Given the description of an element on the screen output the (x, y) to click on. 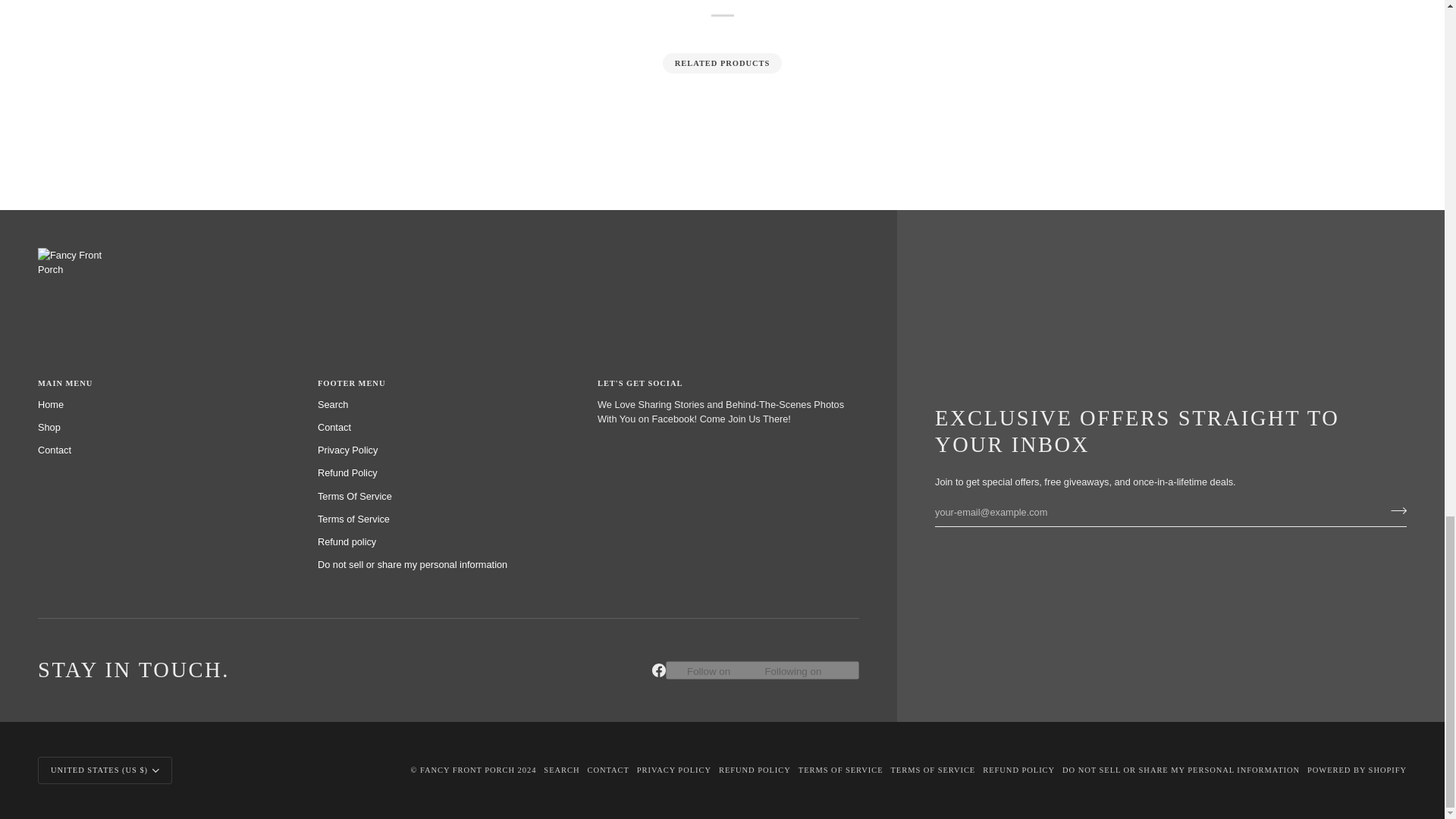
Facebook (658, 670)
RELATED PRODUCTS (722, 63)
